Given the description of an element on the screen output the (x, y) to click on. 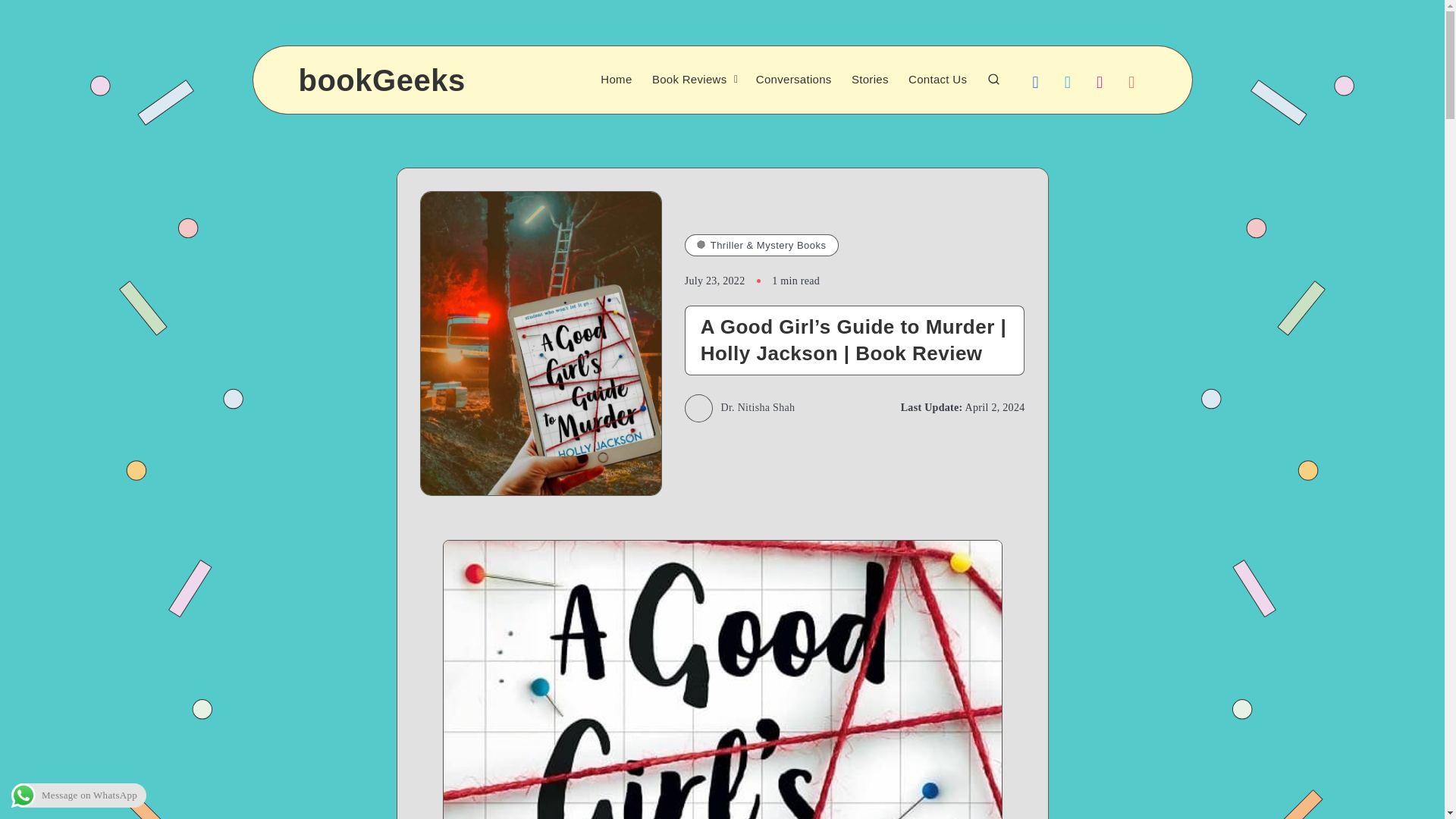
bookGeeks (381, 80)
Conversations (793, 79)
Book Reviews (689, 79)
Dr. Nitisha Shah (739, 407)
Author: Dr. Nitisha Shah (739, 407)
Contact Us (937, 79)
Home (615, 79)
Stories (869, 79)
